Given the description of an element on the screen output the (x, y) to click on. 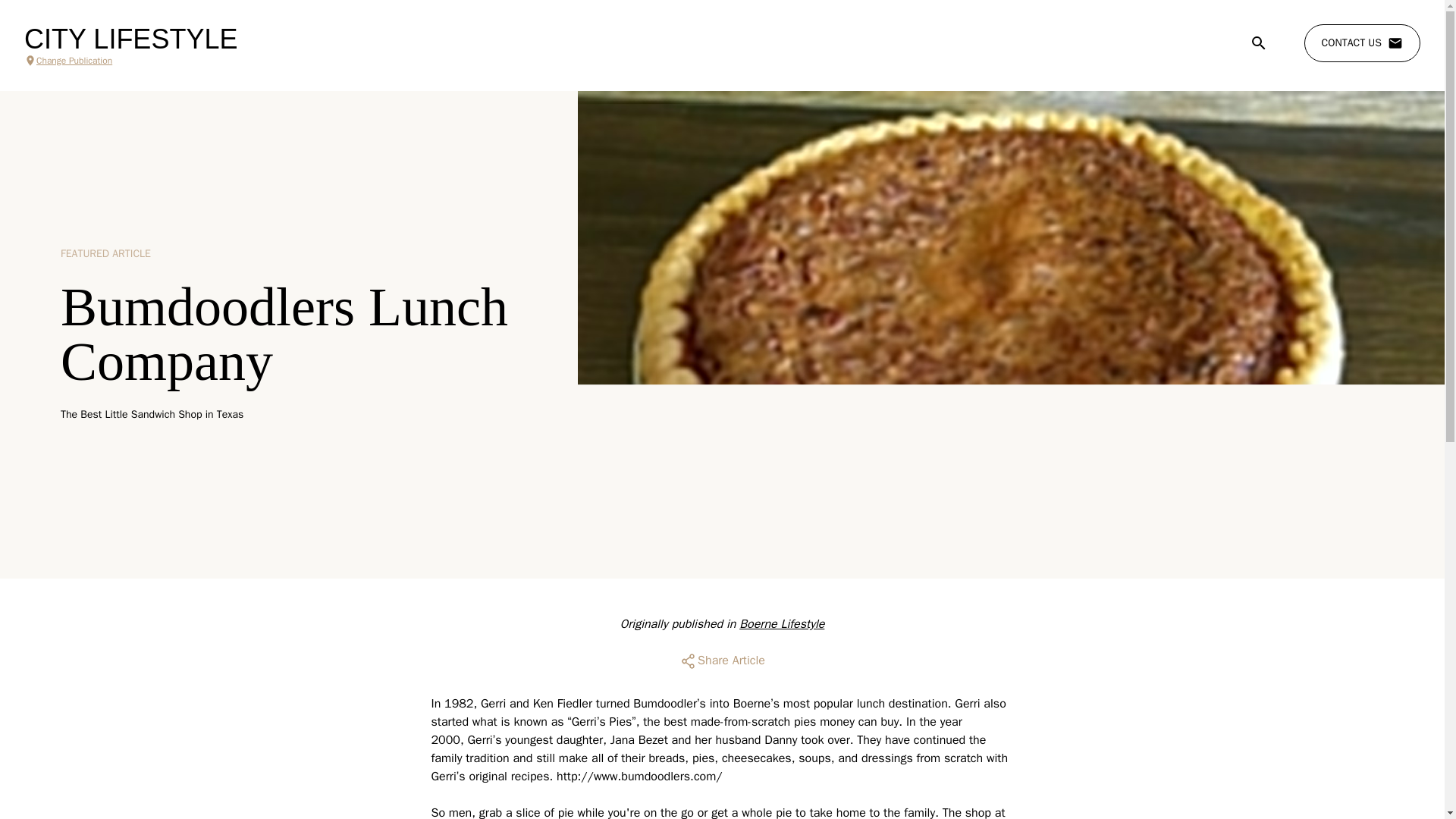
Boerne Lifestyle (781, 623)
Change Publication (130, 60)
Share Article (722, 660)
CONTACT US (1362, 43)
CITY LIFESTYLE (130, 39)
